Given the description of an element on the screen output the (x, y) to click on. 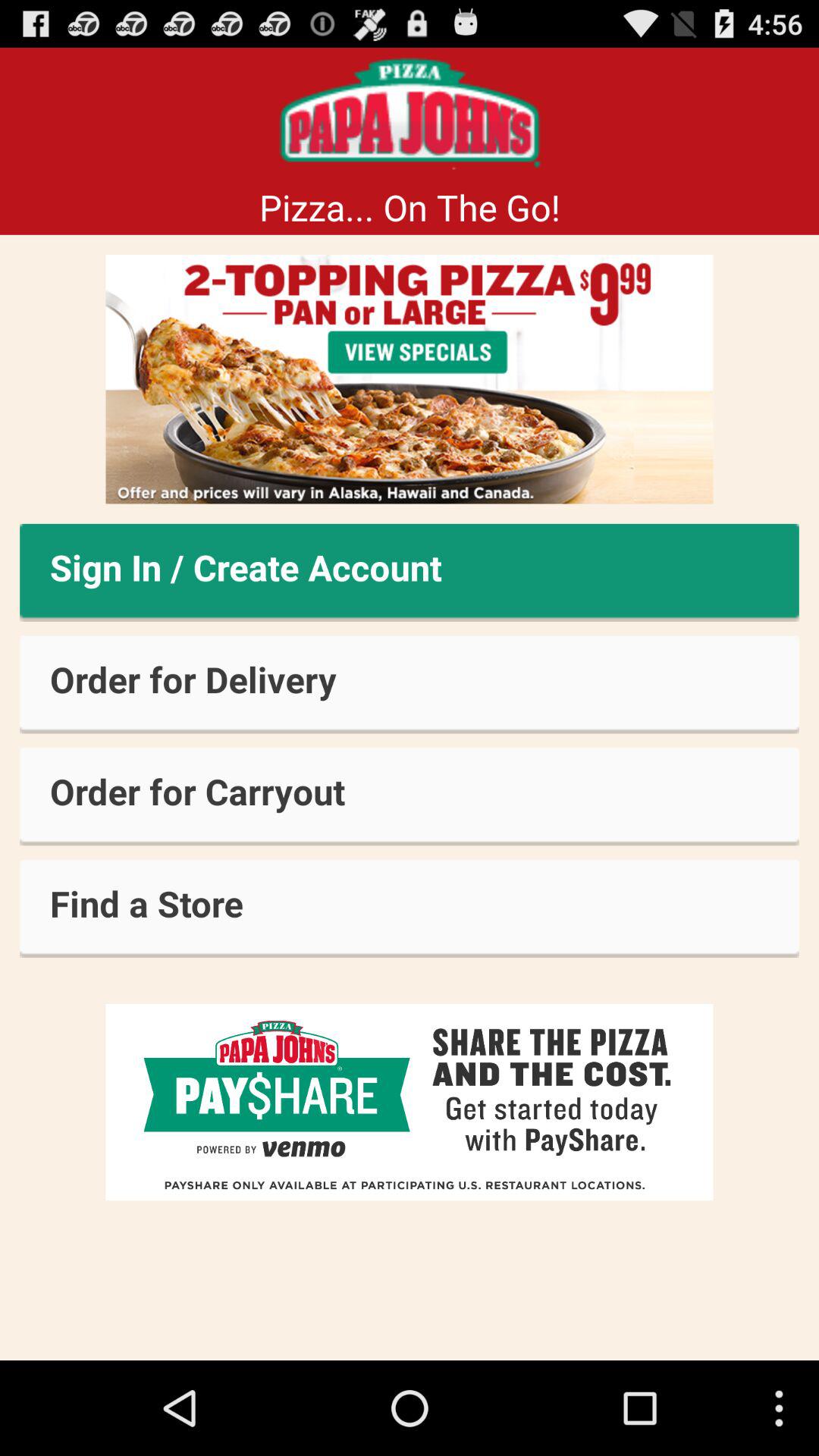
swipe until the sign in create (409, 572)
